Given the description of an element on the screen output the (x, y) to click on. 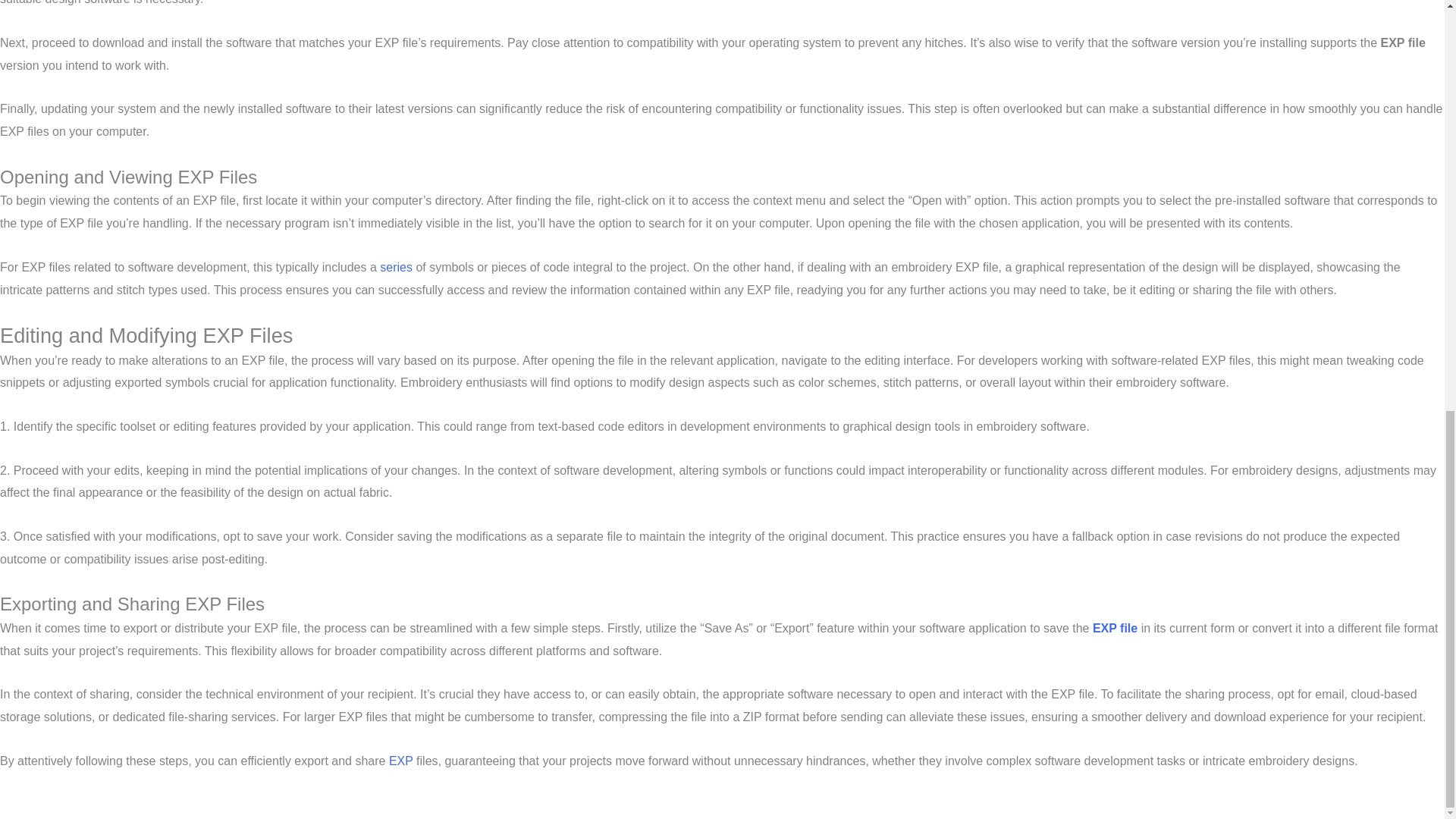
series (396, 267)
EXP file (1115, 627)
EXP (400, 760)
series (396, 267)
